Given the description of an element on the screen output the (x, y) to click on. 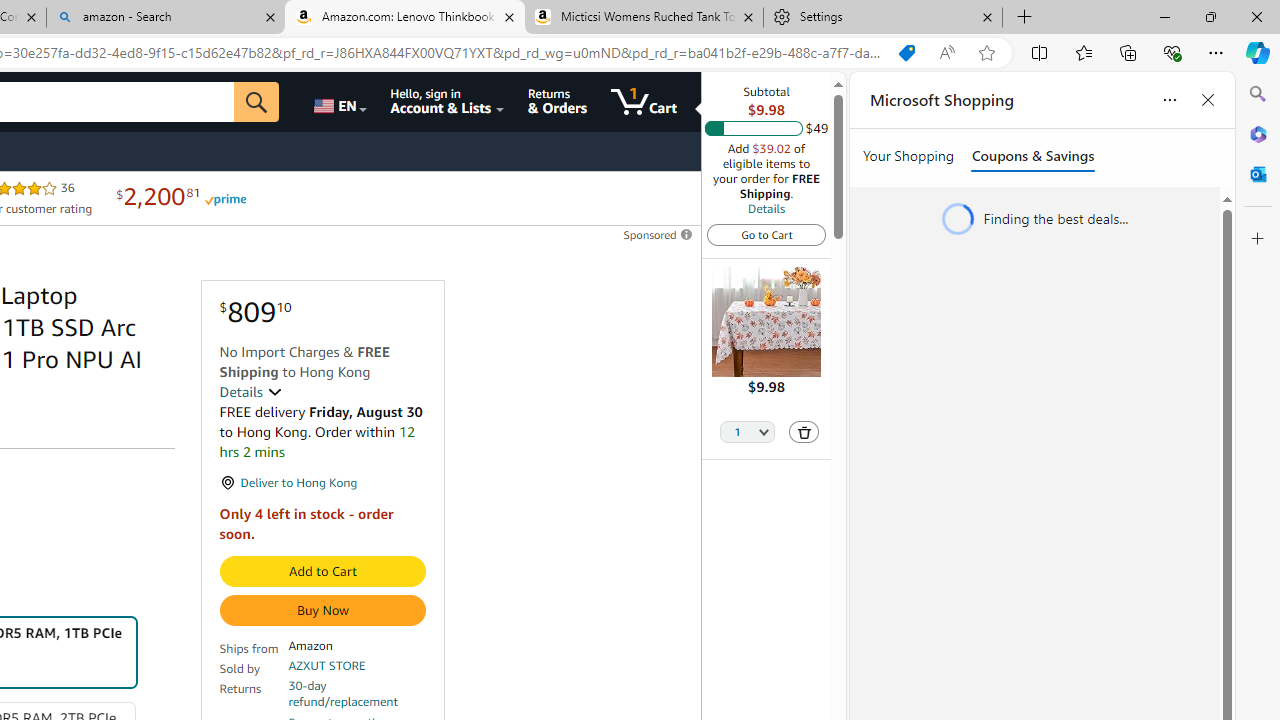
Shopping in Microsoft Edge (906, 53)
AZXUT STORE (327, 665)
Go to Cart (766, 234)
Delete (804, 431)
Go (257, 101)
Hello, sign in Account & Lists (447, 101)
